Given the description of an element on the screen output the (x, y) to click on. 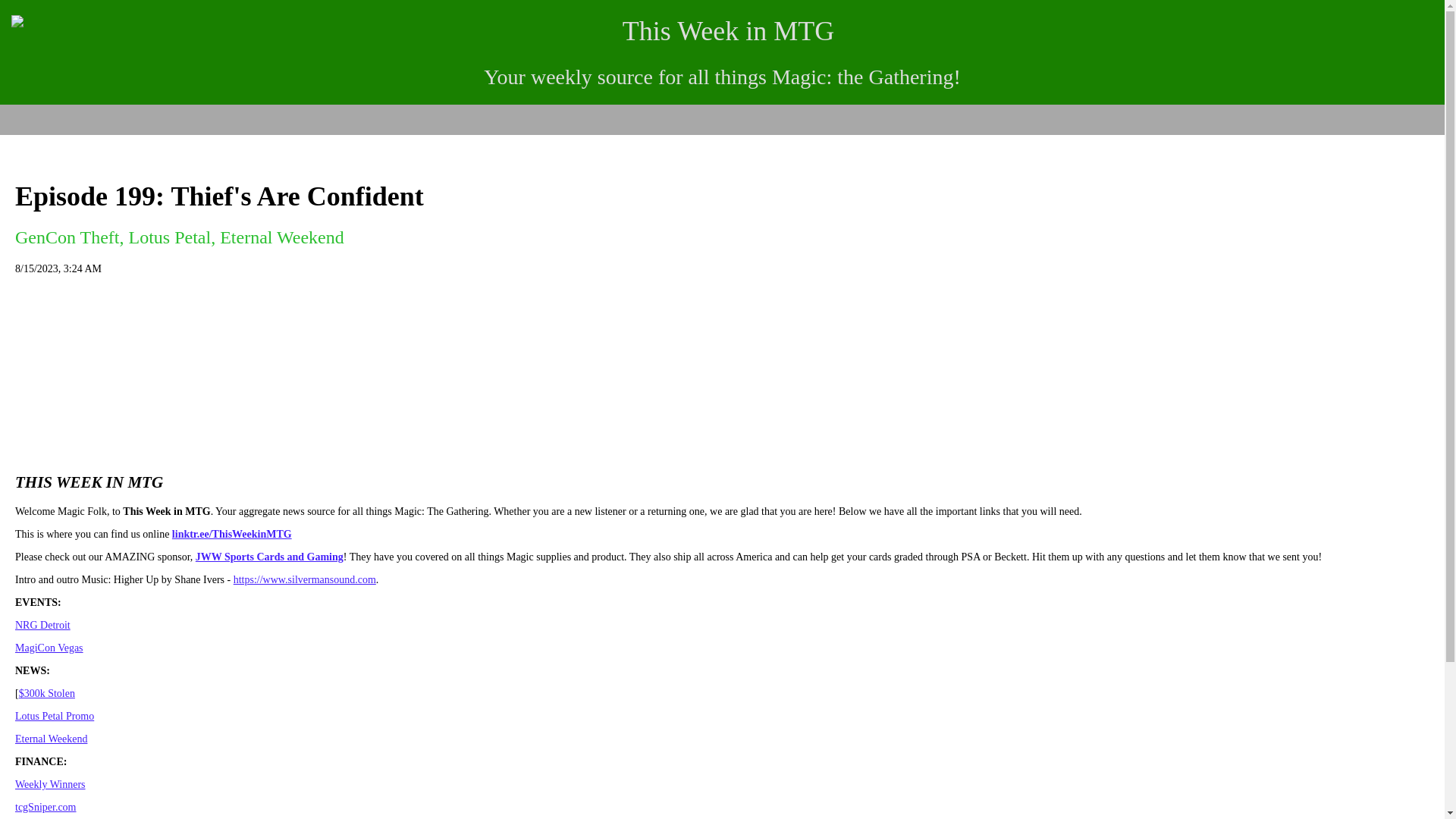
Lotus Petal Promo (54, 715)
Eternal Weekend (50, 738)
JWW Sports Cards and Gaming (269, 556)
Weekly Winners (49, 784)
NRG Detroit (41, 624)
MagiCon Vegas (48, 647)
tcgSniper.com (45, 807)
